Given the description of an element on the screen output the (x, y) to click on. 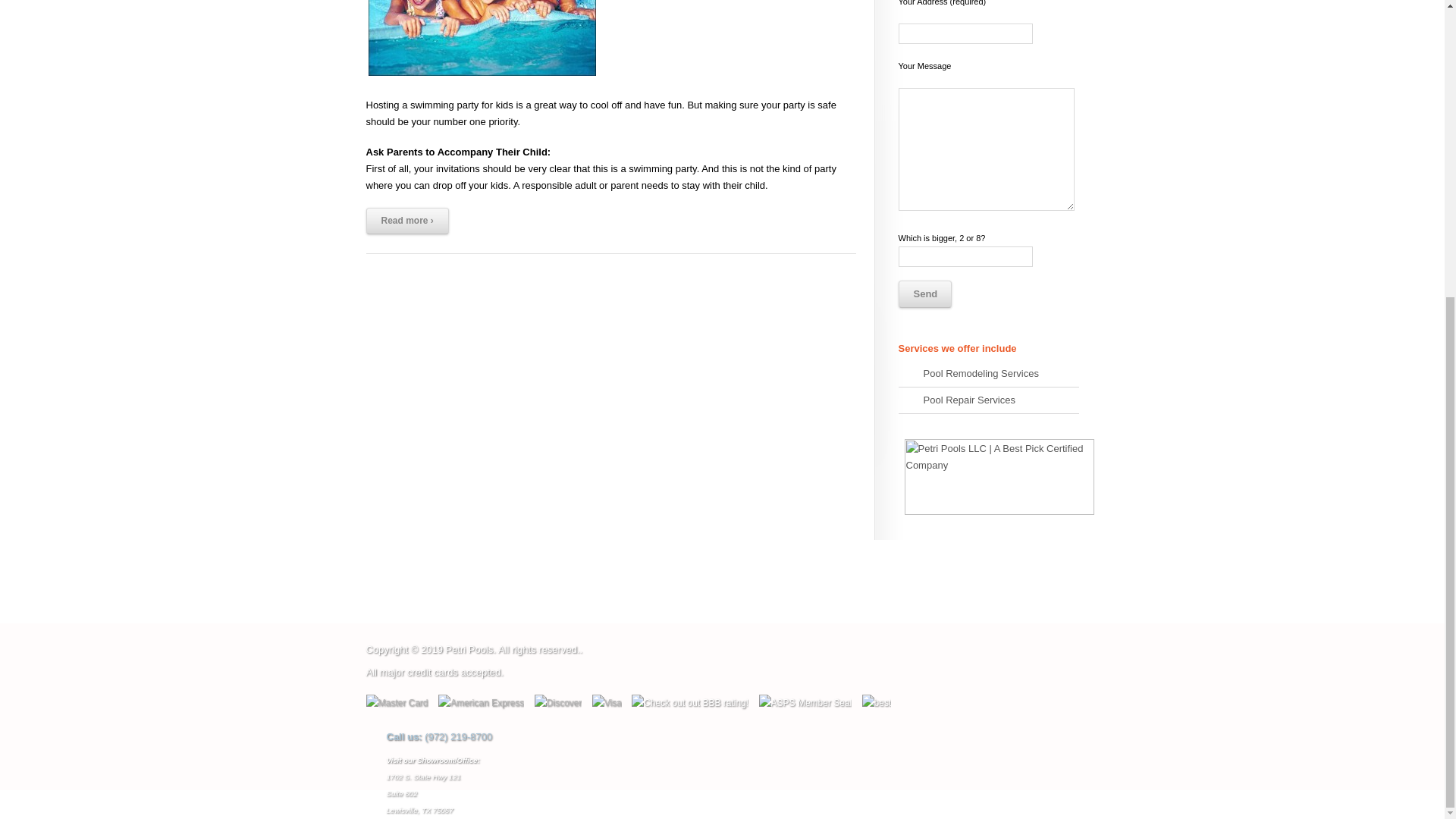
Pool Repair Services (988, 400)
Pool Repair Services (988, 400)
Send (924, 293)
ASPS Member Seal (804, 702)
Pool Remodeling Services (988, 374)
Pool Remodeling Services (988, 374)
ASPS (804, 702)
Send (924, 293)
kids-at-pool (480, 38)
